Given the description of an element on the screen output the (x, y) to click on. 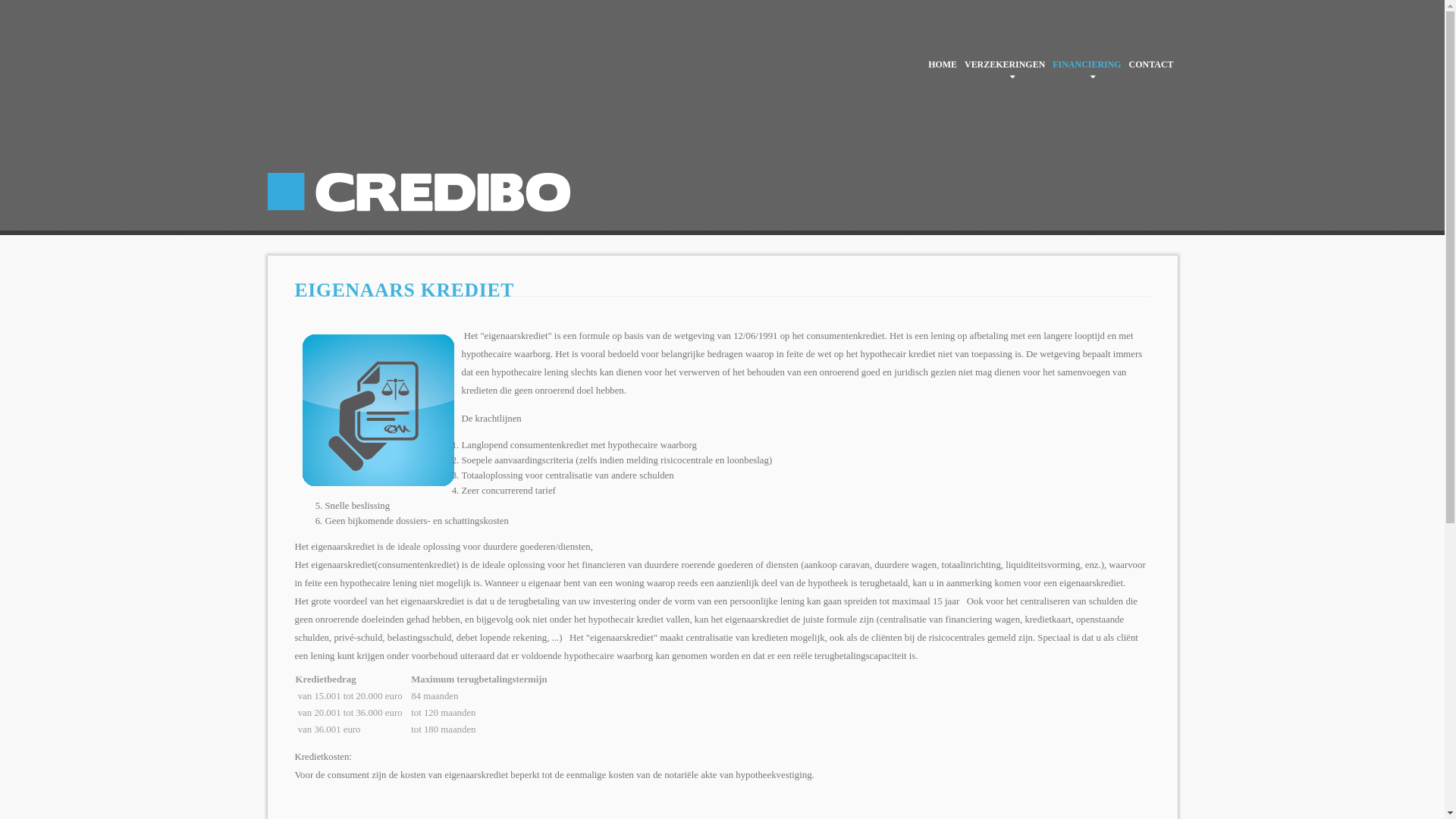
FINANCIERING Element type: text (1086, 64)
CREDIBO Element type: hover (418, 150)
EIGENAARS KREDIET Element type: text (404, 290)
VERZEKERINGEN Element type: text (1004, 64)
CREDIBO Element type: hover (418, 183)
HOME Element type: text (942, 64)
CONTACT Element type: text (1151, 64)
